Given the description of an element on the screen output the (x, y) to click on. 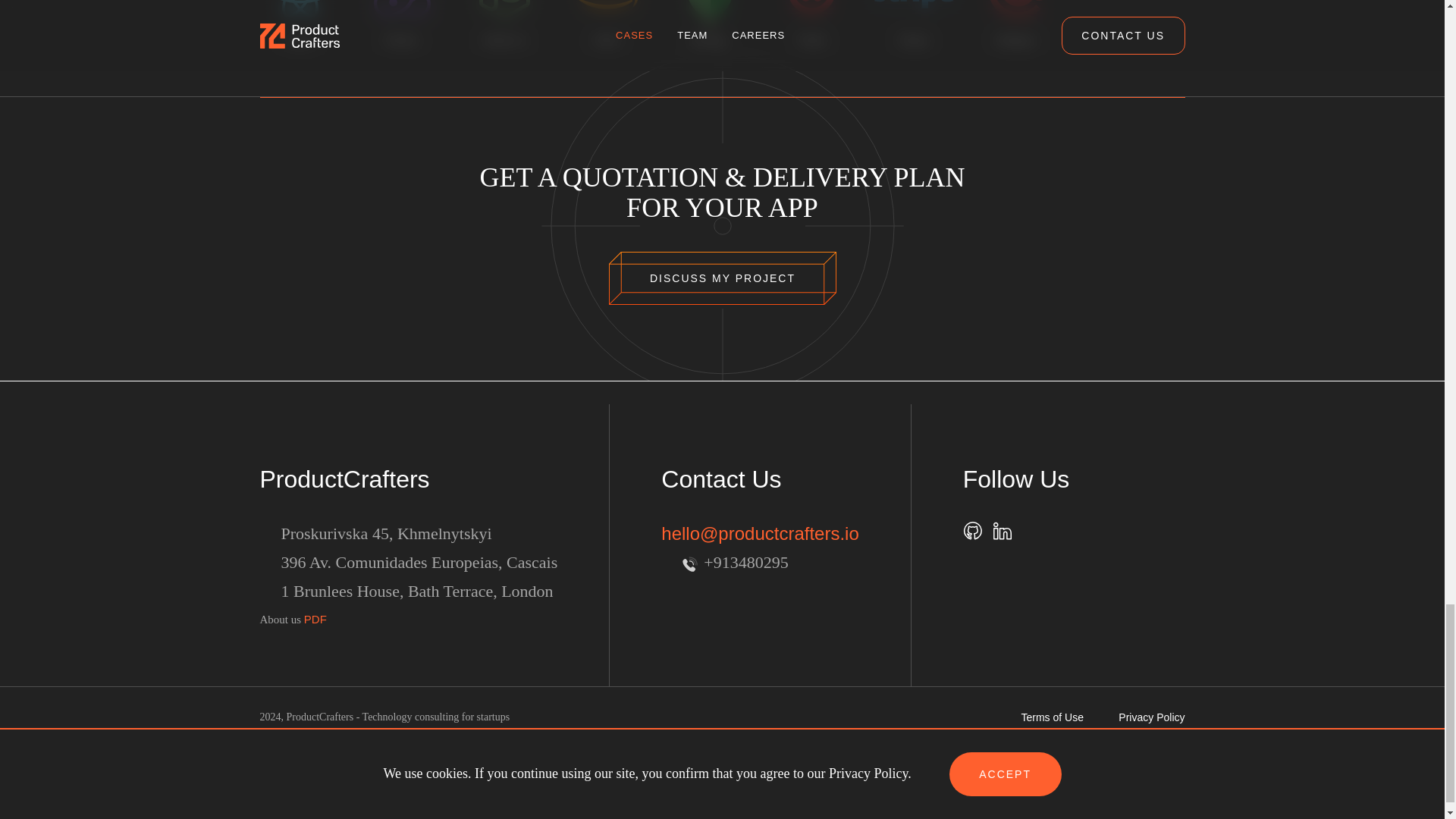
PDF (315, 618)
DISCUSS MY PROJECT (721, 277)
Terms of Use (1051, 717)
Privacy Policy (1151, 717)
